Given the description of an element on the screen output the (x, y) to click on. 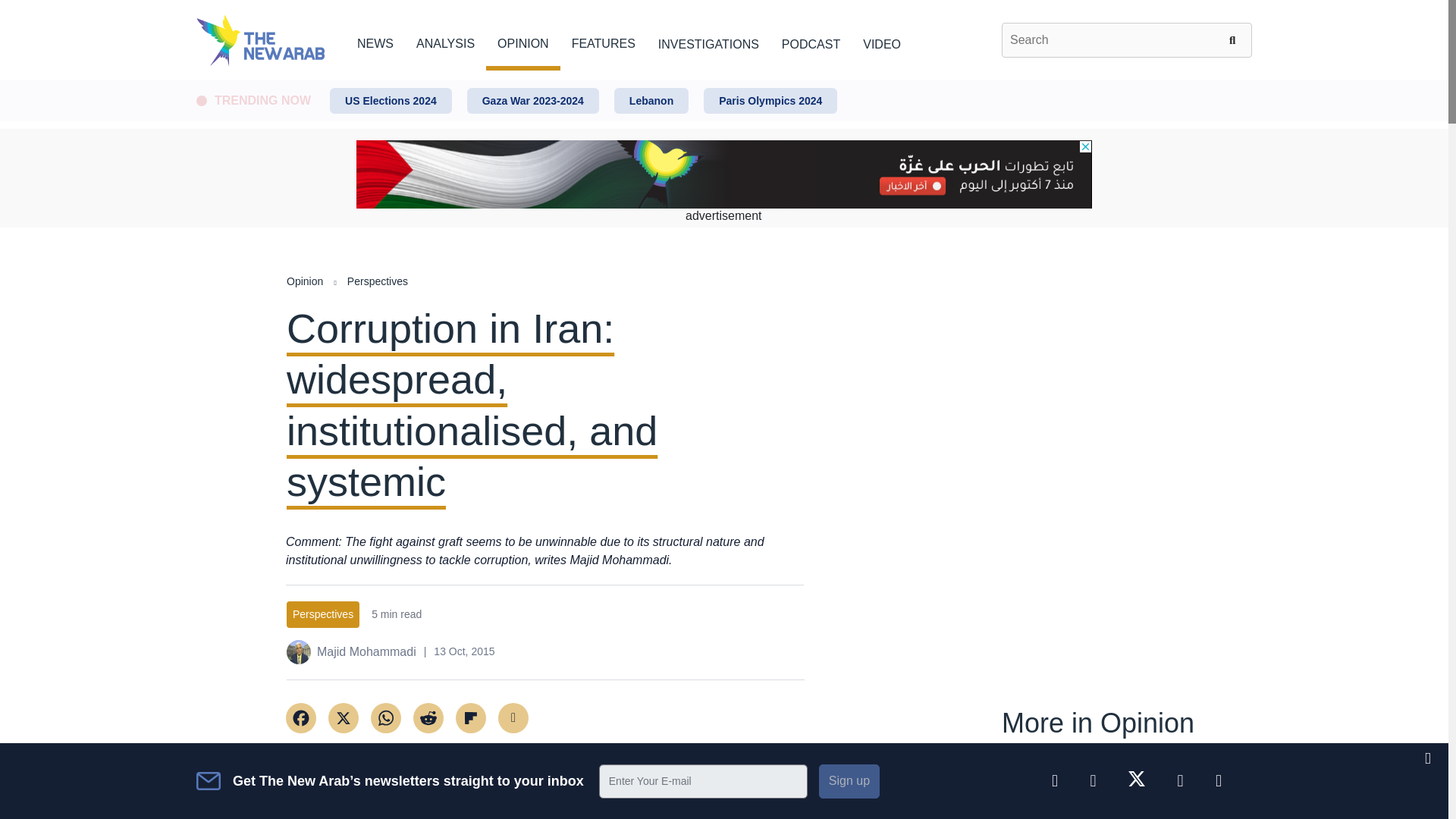
ANALYSIS (445, 41)
OPINION (523, 41)
Skip to main content (724, 81)
NEWS (375, 41)
Search (1234, 39)
